Given the description of an element on the screen output the (x, y) to click on. 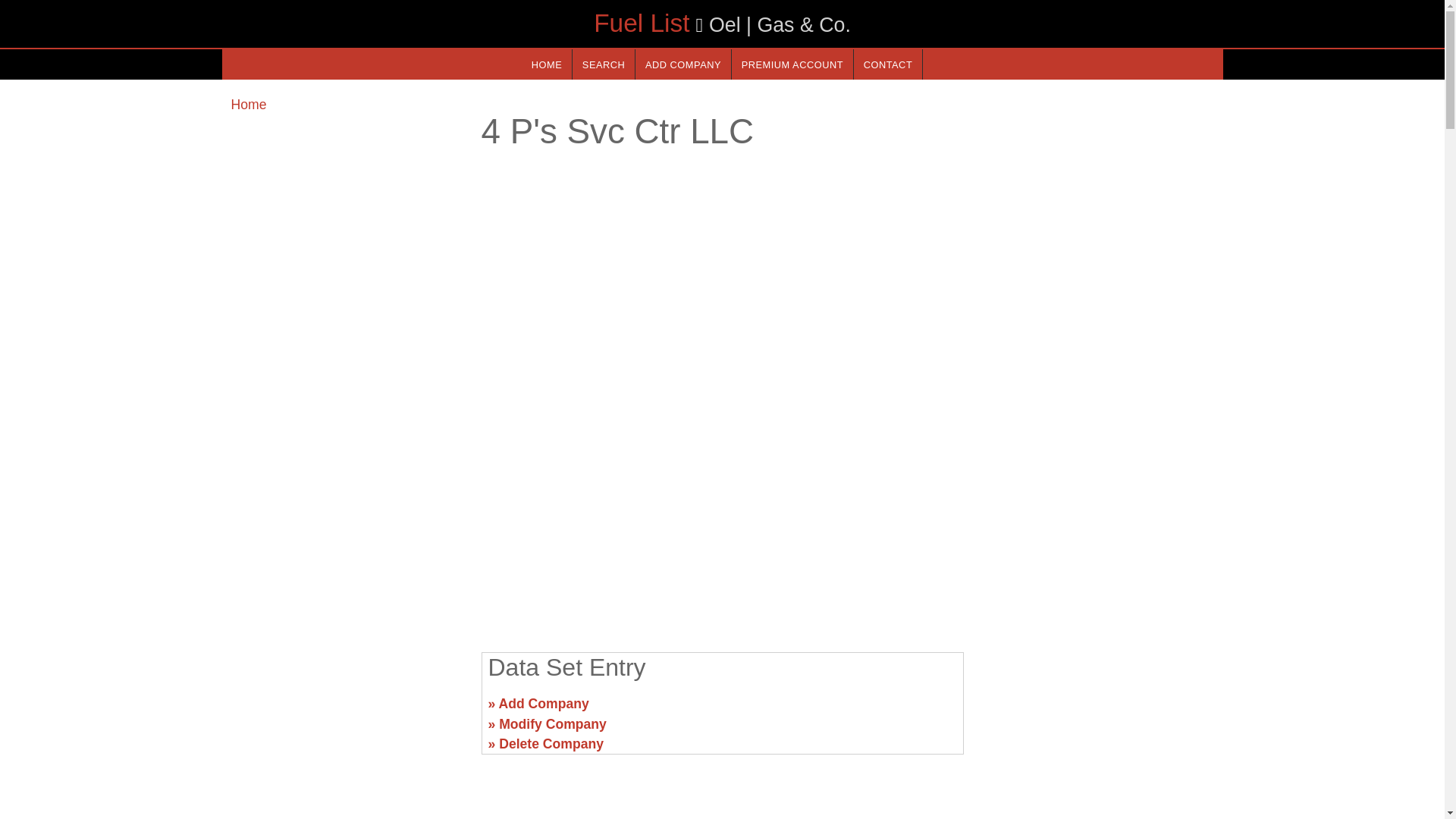
Advertisement (1096, 710)
PREMIUM ACCOUNT (792, 64)
SEARCH (603, 64)
Home (248, 104)
Add a new company (682, 64)
ADD COMPANY (682, 64)
Advertisement (721, 522)
HOME (546, 64)
Premium account (792, 64)
Search in this webseite. (603, 64)
Advertisement (346, 710)
Fuel List (641, 22)
CONTACT (887, 64)
